Given the description of an element on the screen output the (x, y) to click on. 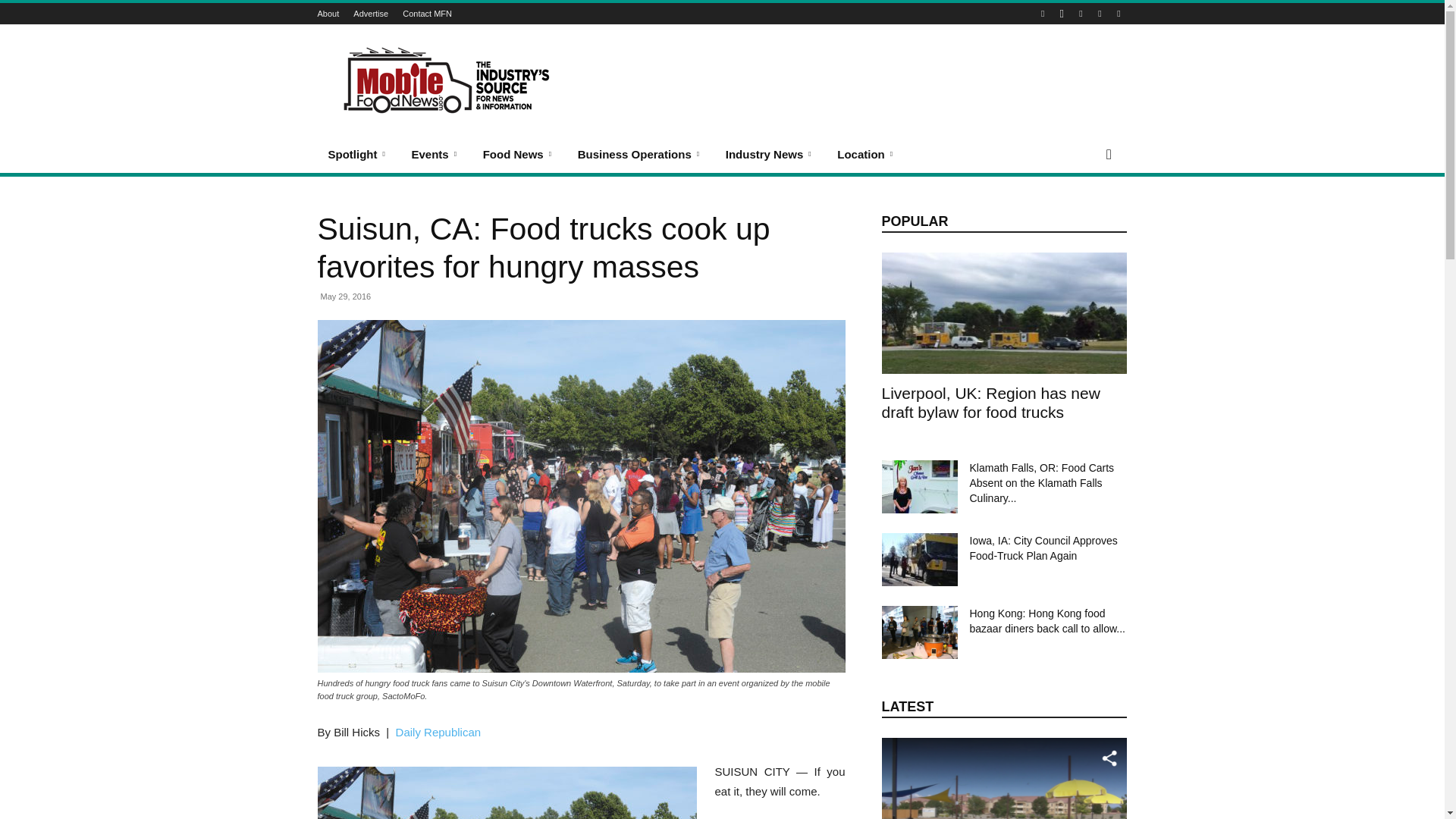
Pinterest (1080, 13)
Contact MFN (427, 13)
Twitter (1117, 13)
Instagram (1061, 13)
Facebook (1042, 13)
Advertise (370, 13)
About (328, 13)
RSS (1099, 13)
